Given the description of an element on the screen output the (x, y) to click on. 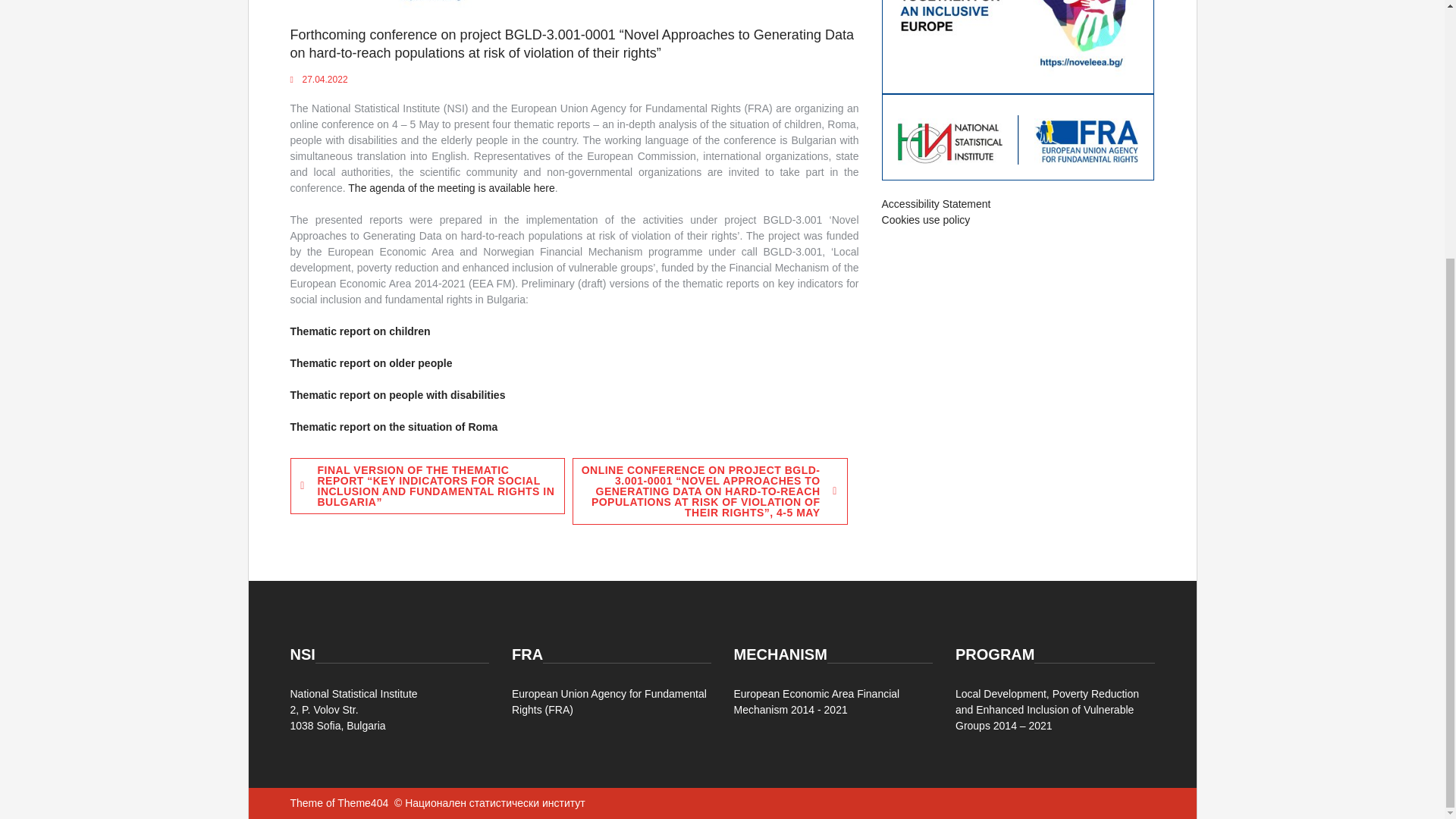
The agenda of the meeting is available here (450, 187)
Accessibility Statement (936, 203)
27.04.2022 (324, 79)
Thematic report on children (359, 331)
Thematic report on people with disabilities (397, 395)
Theme404 (362, 802)
National Statistical Institute (352, 693)
Cookies use policy (926, 219)
Thematic report on the situation of Roma (393, 426)
Thematic report on older people (370, 363)
European Economic Area Financial Mechanism 2014 - 2021 (816, 701)
